Given the description of an element on the screen output the (x, y) to click on. 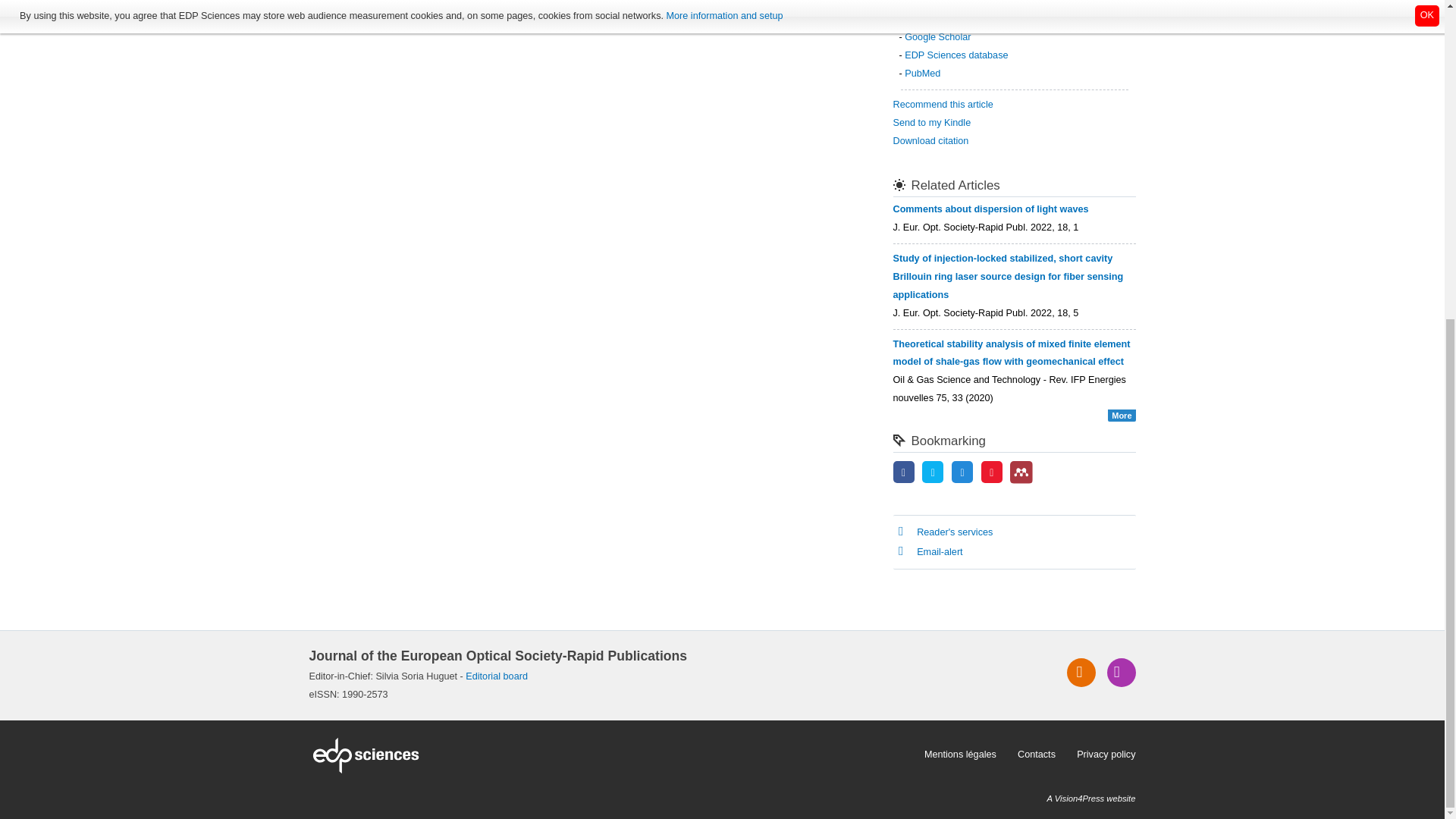
Send this article to my Kindle (932, 122)
Access our RSS feeds (1081, 672)
Mendeley (1021, 472)
Share on Sina Weibo (992, 472)
Share on Twitter (932, 472)
Share on LinkedIn (962, 472)
Add this article to your Mendeley library (1021, 480)
Share on Facebook (903, 472)
EDP Sciences website (611, 754)
Register to the journal email alert (1120, 672)
